Given the description of an element on the screen output the (x, y) to click on. 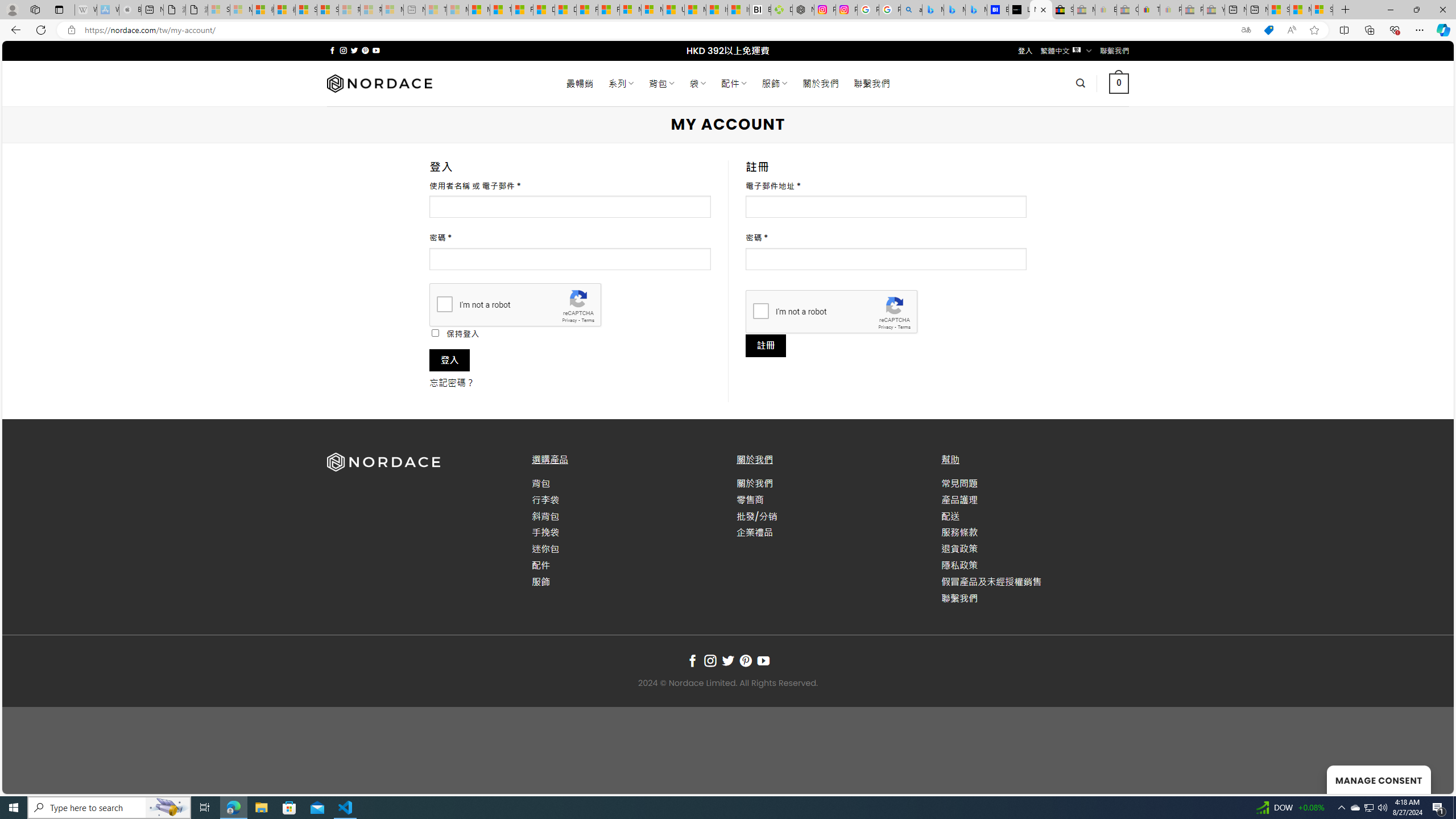
Selling on eBay | Electronics, Fashion, Home & Garden | eBay (1062, 9)
Nordace - My Account (1041, 9)
Follow on Facebook (691, 660)
